Given the description of an element on the screen output the (x, y) to click on. 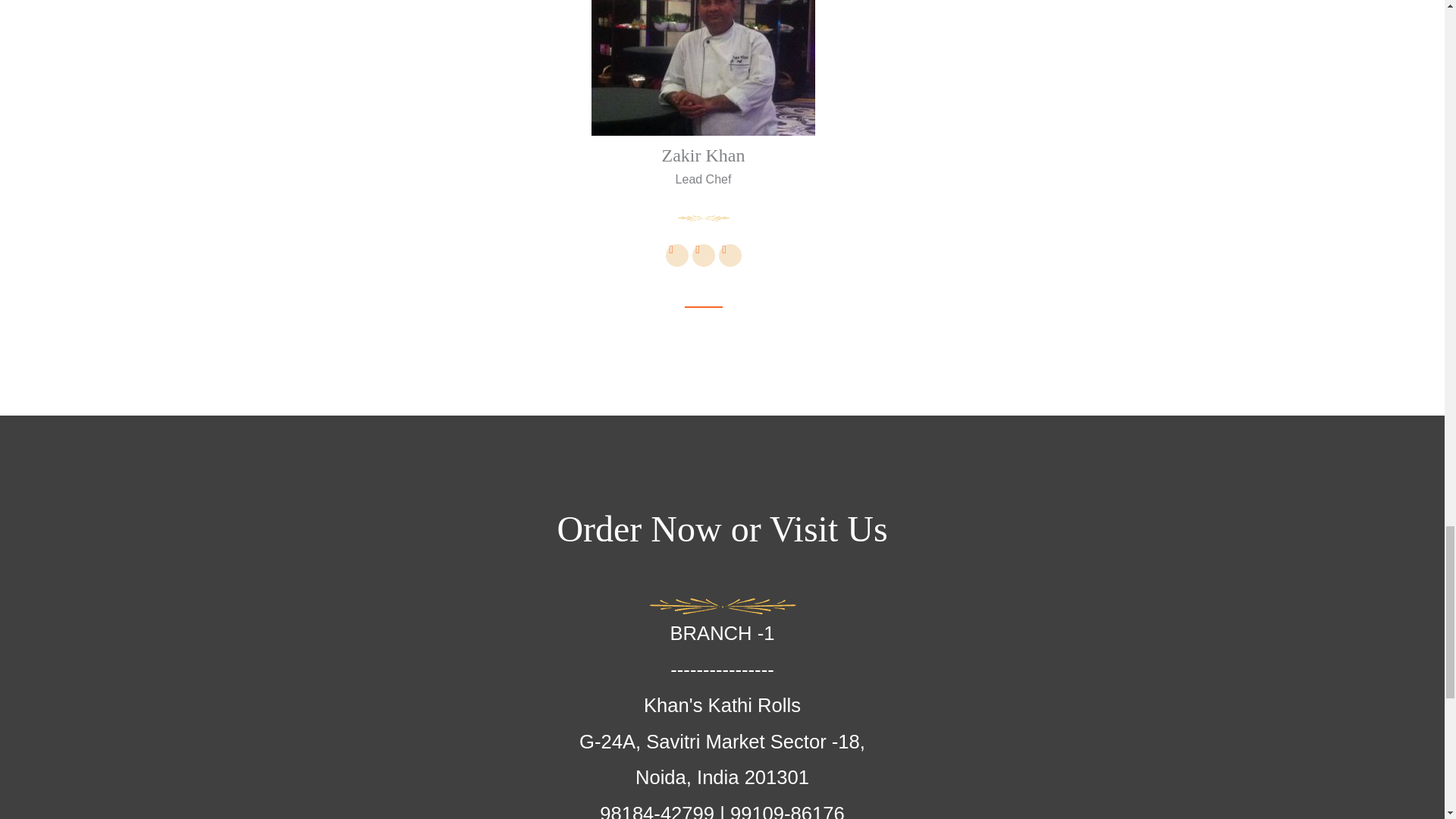
Twitter (702, 255)
Instagram (730, 255)
Facebook-f (676, 255)
